Given the description of an element on the screen output the (x, y) to click on. 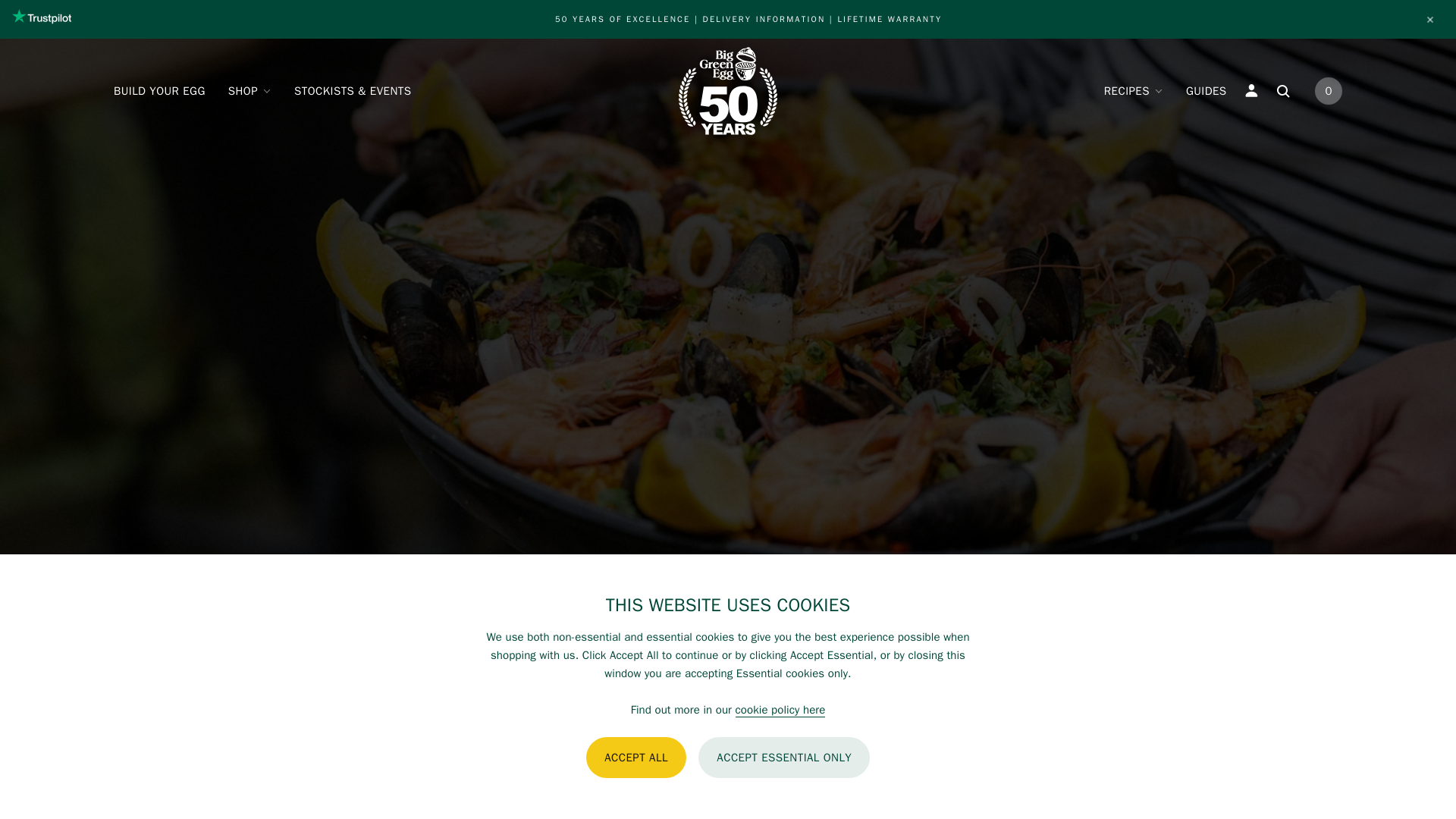
LIFETIME WARRANTY (889, 19)
SHOP (249, 90)
GUIDES (1206, 90)
DELIVERY INFORMATION (764, 19)
RECIPES (1133, 90)
0 (1328, 90)
50 YEARS OF EXCELLENCE (622, 19)
0 (1324, 90)
BUILD YOUR EGG (158, 90)
